Given the description of an element on the screen output the (x, y) to click on. 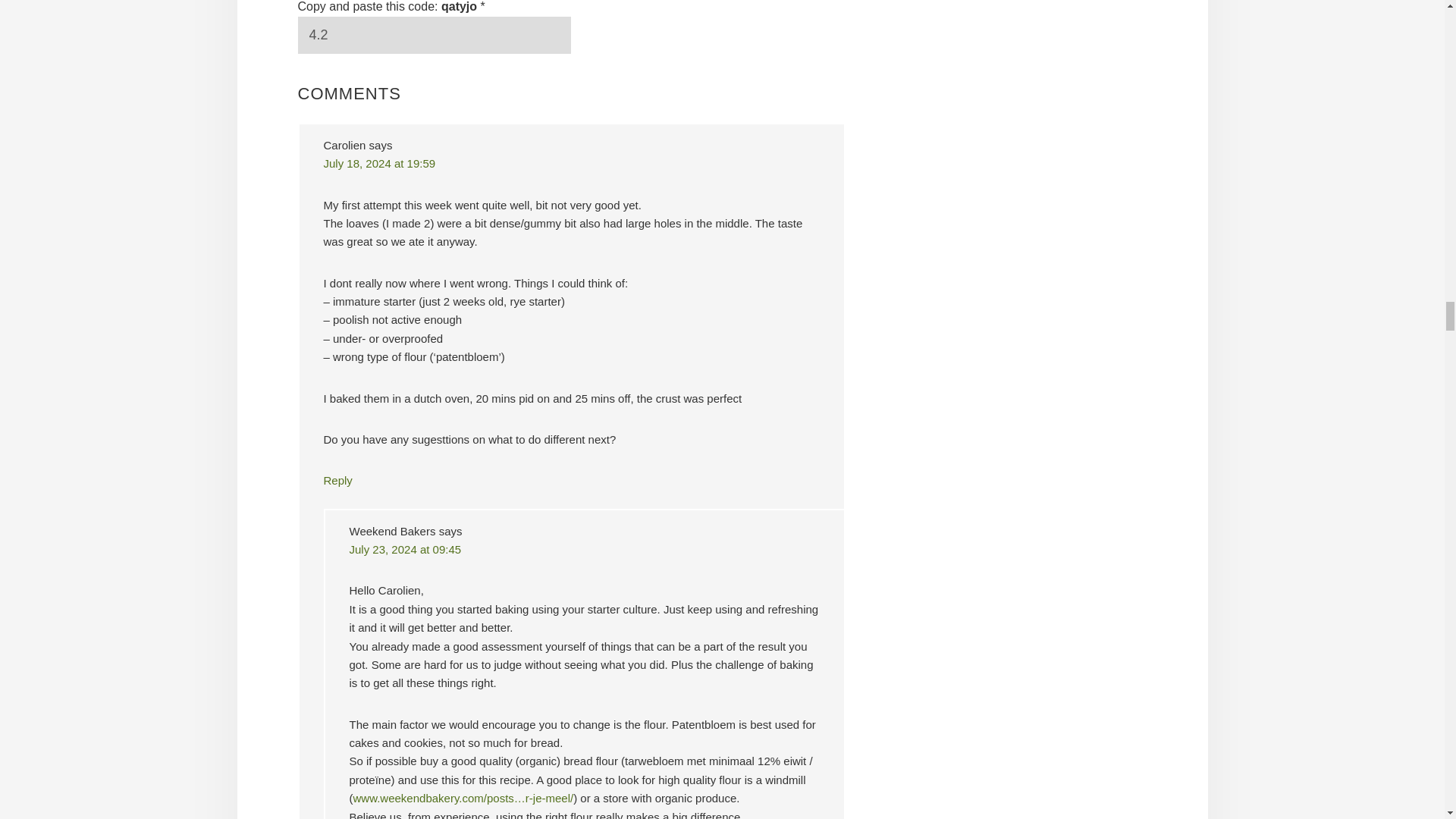
4.2 (433, 35)
